Given the description of an element on the screen output the (x, y) to click on. 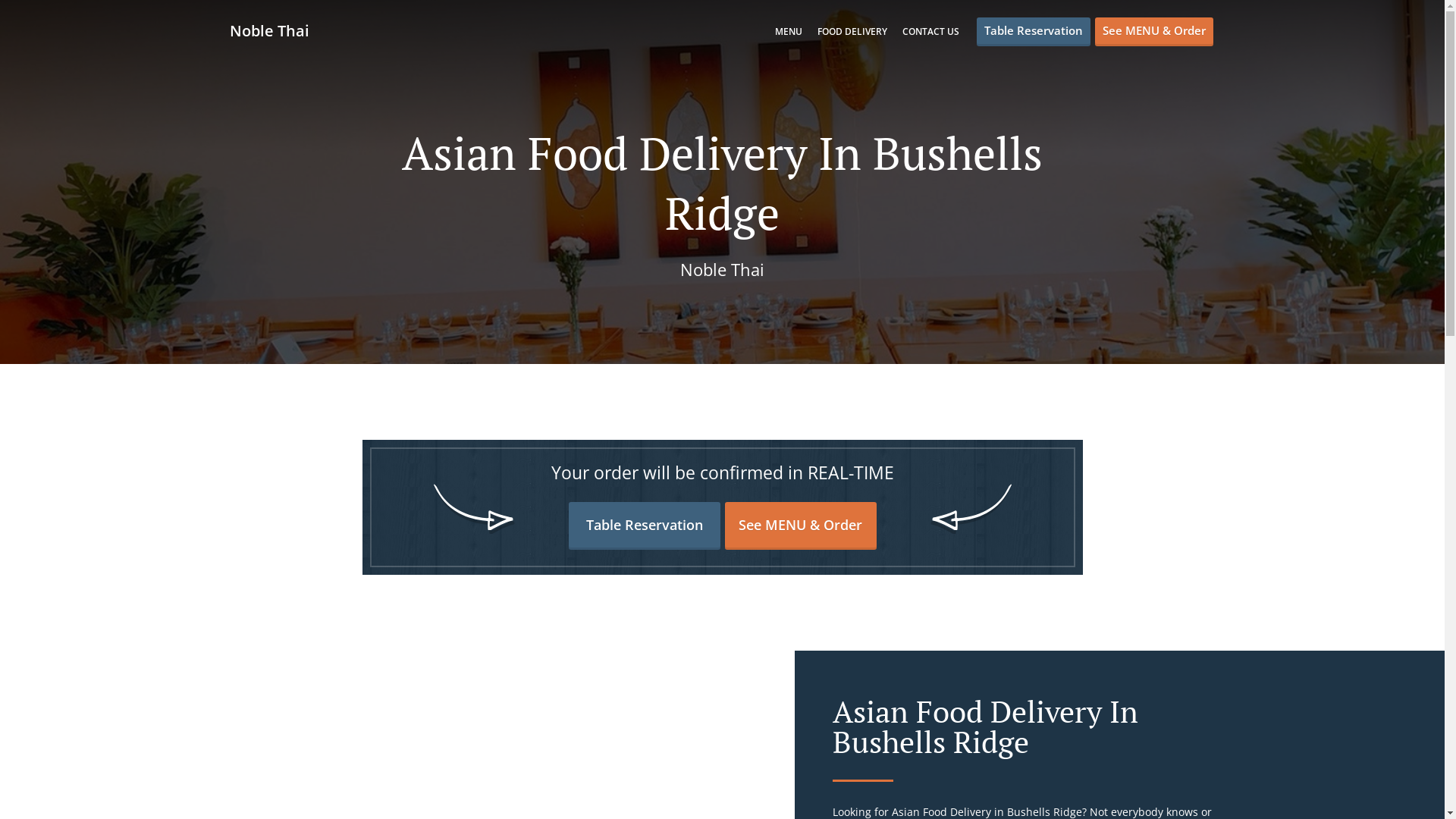
MENU Element type: text (788, 31)
Noble Thai Element type: text (276, 30)
CONTACT US Element type: text (930, 31)
FOOD DELIVERY Element type: text (852, 31)
